Given the description of an element on the screen output the (x, y) to click on. 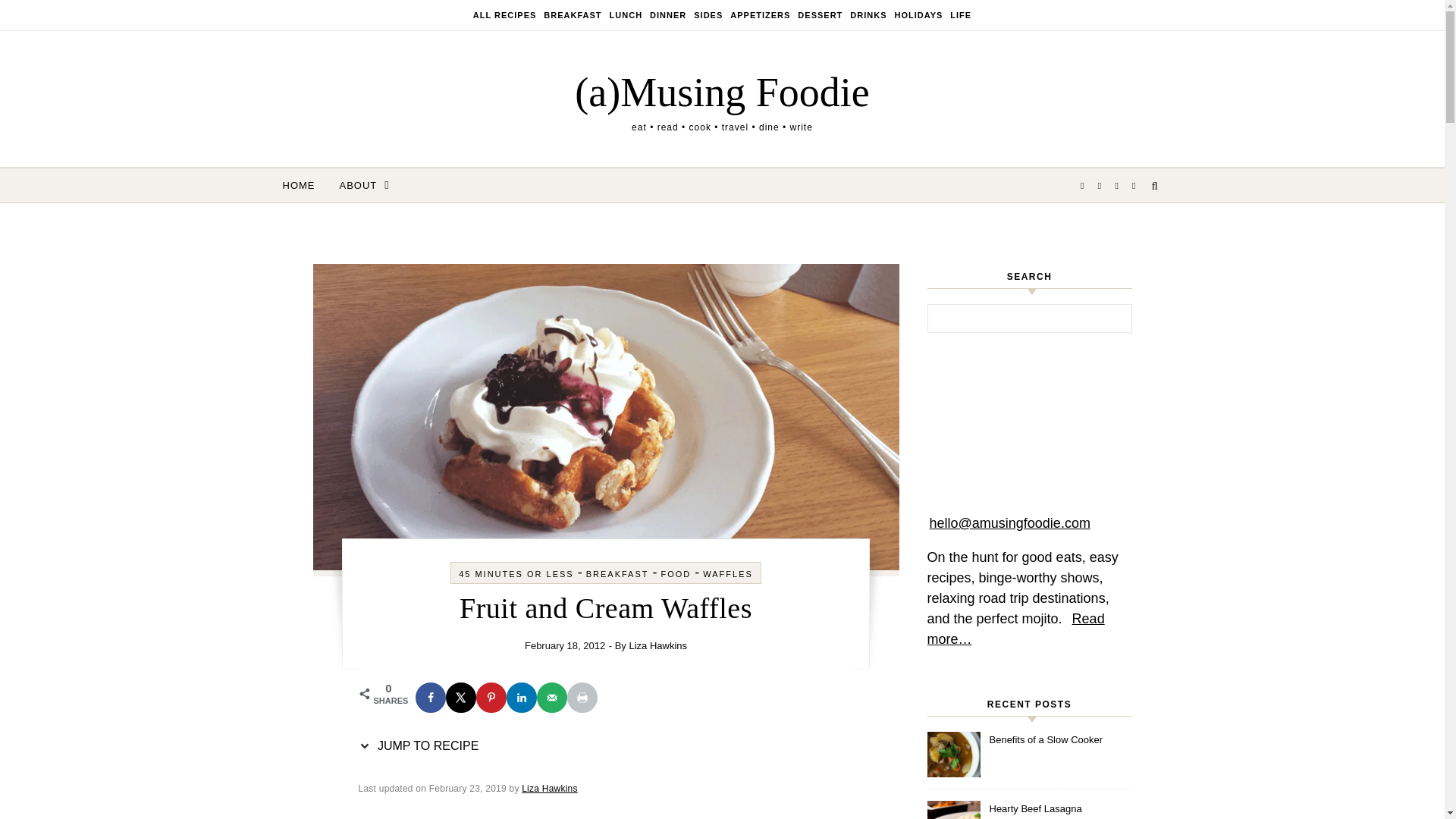
Share on Facebook (429, 697)
DESSERT (819, 15)
JUMP TO RECIPE (422, 745)
Posts by Liza Hawkins (657, 645)
APPETIZERS (759, 15)
Share on LinkedIn (521, 697)
Food (506, 15)
Send over email (552, 697)
ALL RECIPES (506, 15)
Save to Pinterest (491, 697)
